Given the description of an element on the screen output the (x, y) to click on. 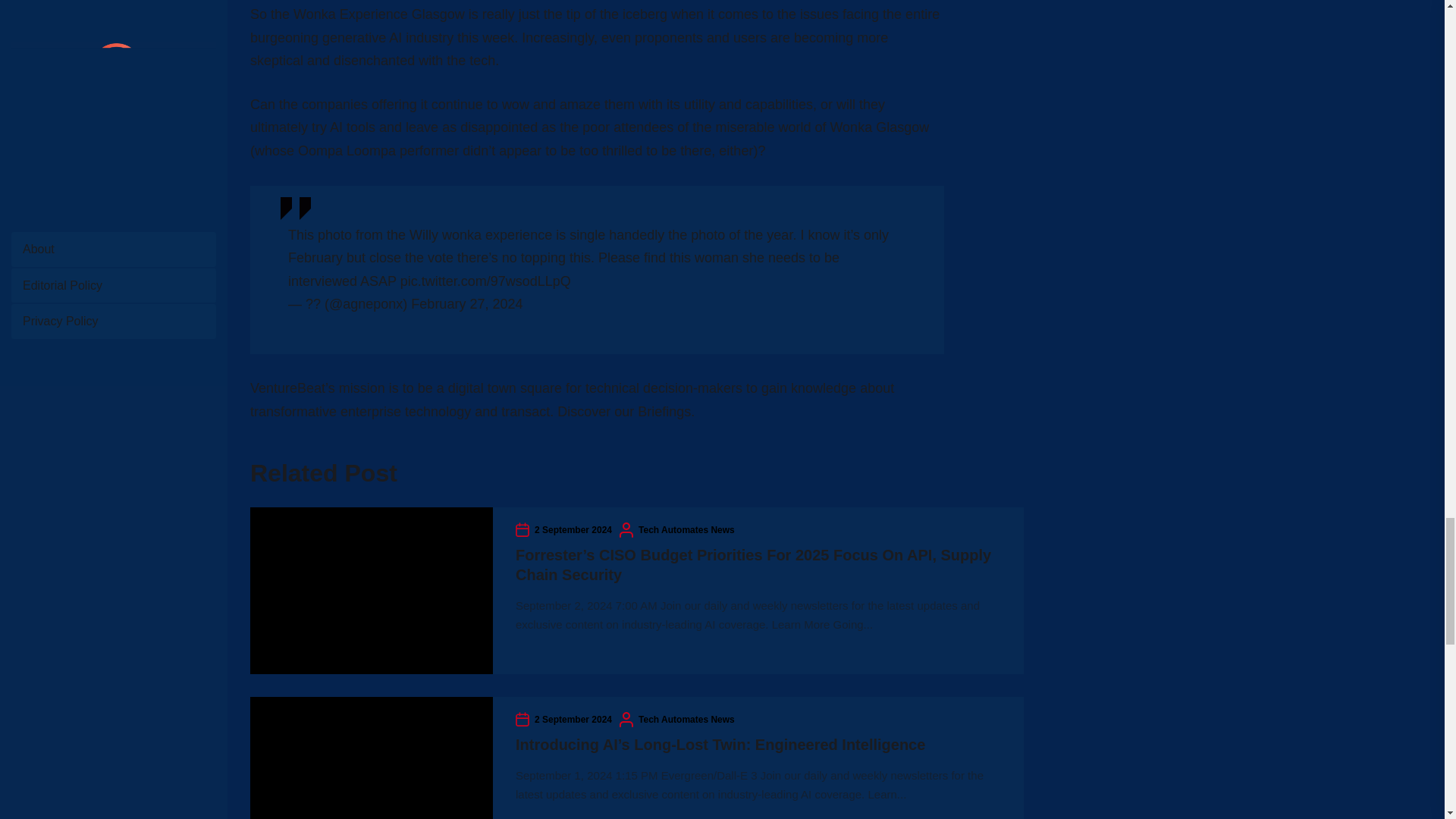
Tech Automates News (687, 529)
Tech Automates News (687, 719)
2 September 2024 (572, 529)
2 September 2024 (572, 719)
